Given the description of an element on the screen output the (x, y) to click on. 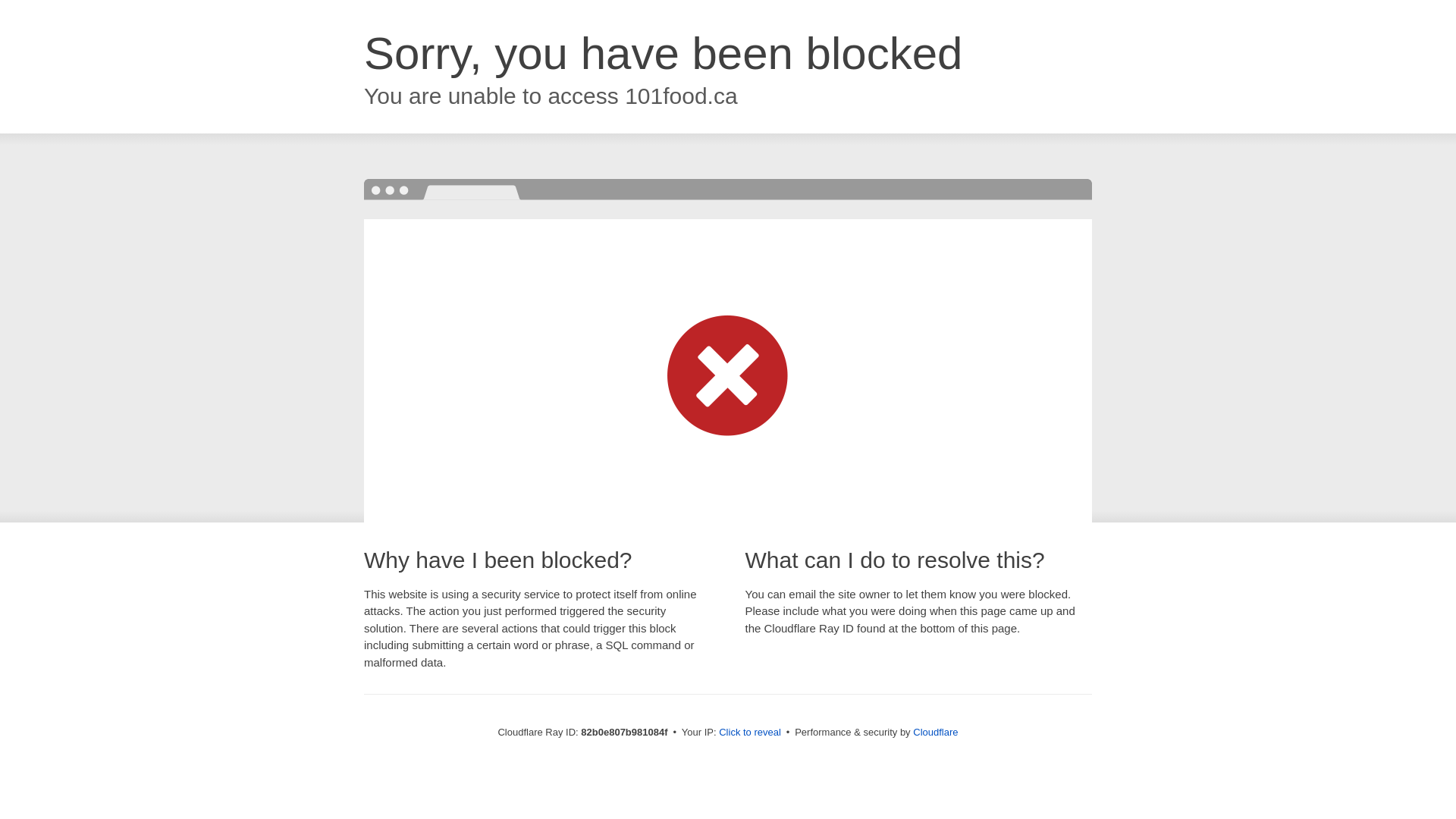
Click to reveal Element type: text (749, 732)
Cloudflare Element type: text (935, 731)
